Given the description of an element on the screen output the (x, y) to click on. 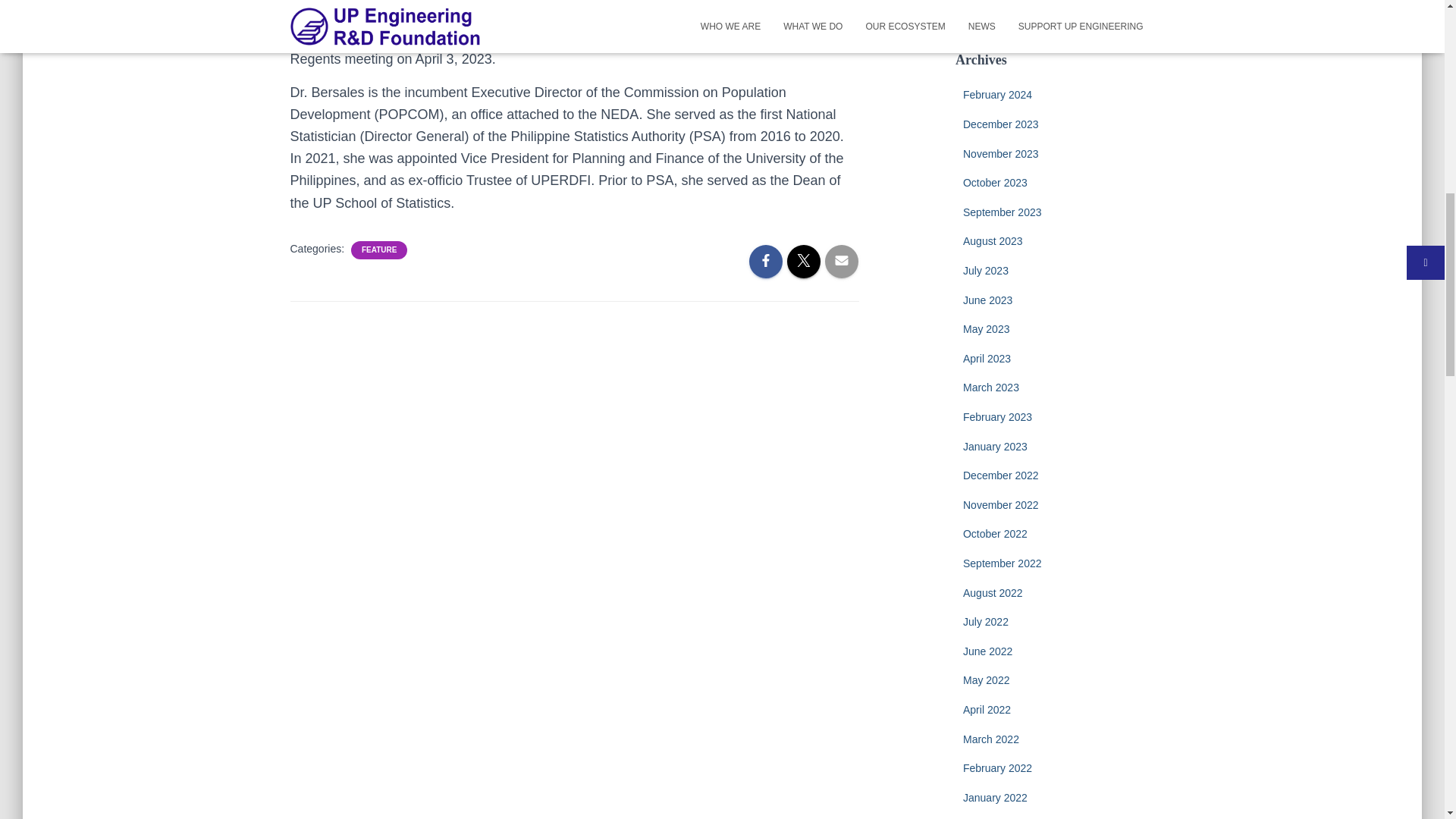
October 2023 (994, 182)
November 2022 (1000, 504)
April 2022 (986, 709)
January 2023 (994, 446)
February 2023 (997, 417)
March 2023 (990, 387)
FEATURE (378, 249)
July 2023 (985, 270)
October 2022 (994, 533)
May 2023 (985, 328)
